Given the description of an element on the screen output the (x, y) to click on. 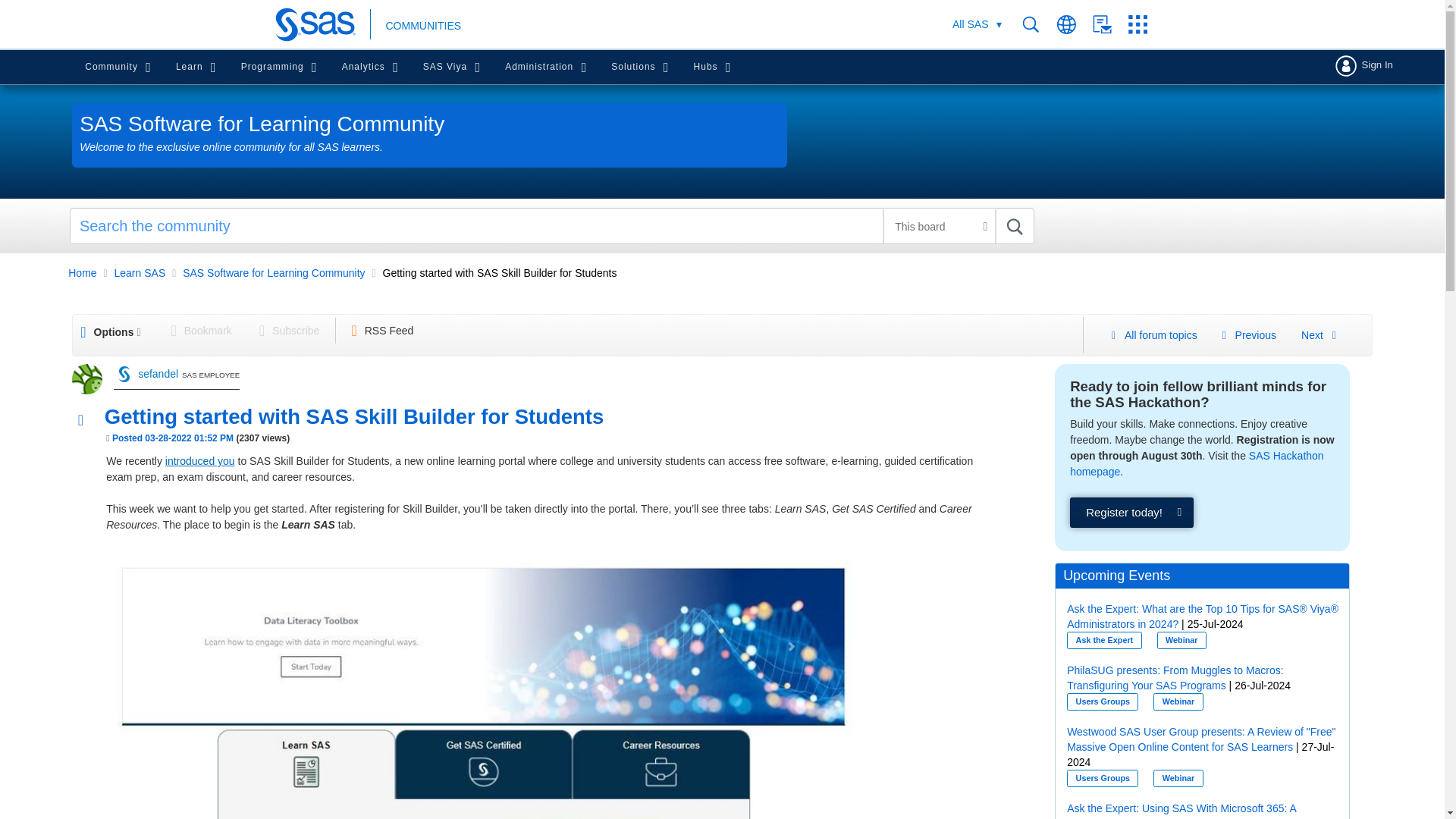
Contact Us (1110, 24)
Search (1015, 226)
All SAS (976, 24)
SAS Sites (1142, 24)
Worldwide Sites (1075, 24)
Software (970, 24)
COMMUNITIES (423, 25)
Search (551, 226)
Search (1015, 226)
Search (1039, 24)
Search Granularity (938, 226)
